Given the description of an element on the screen output the (x, y) to click on. 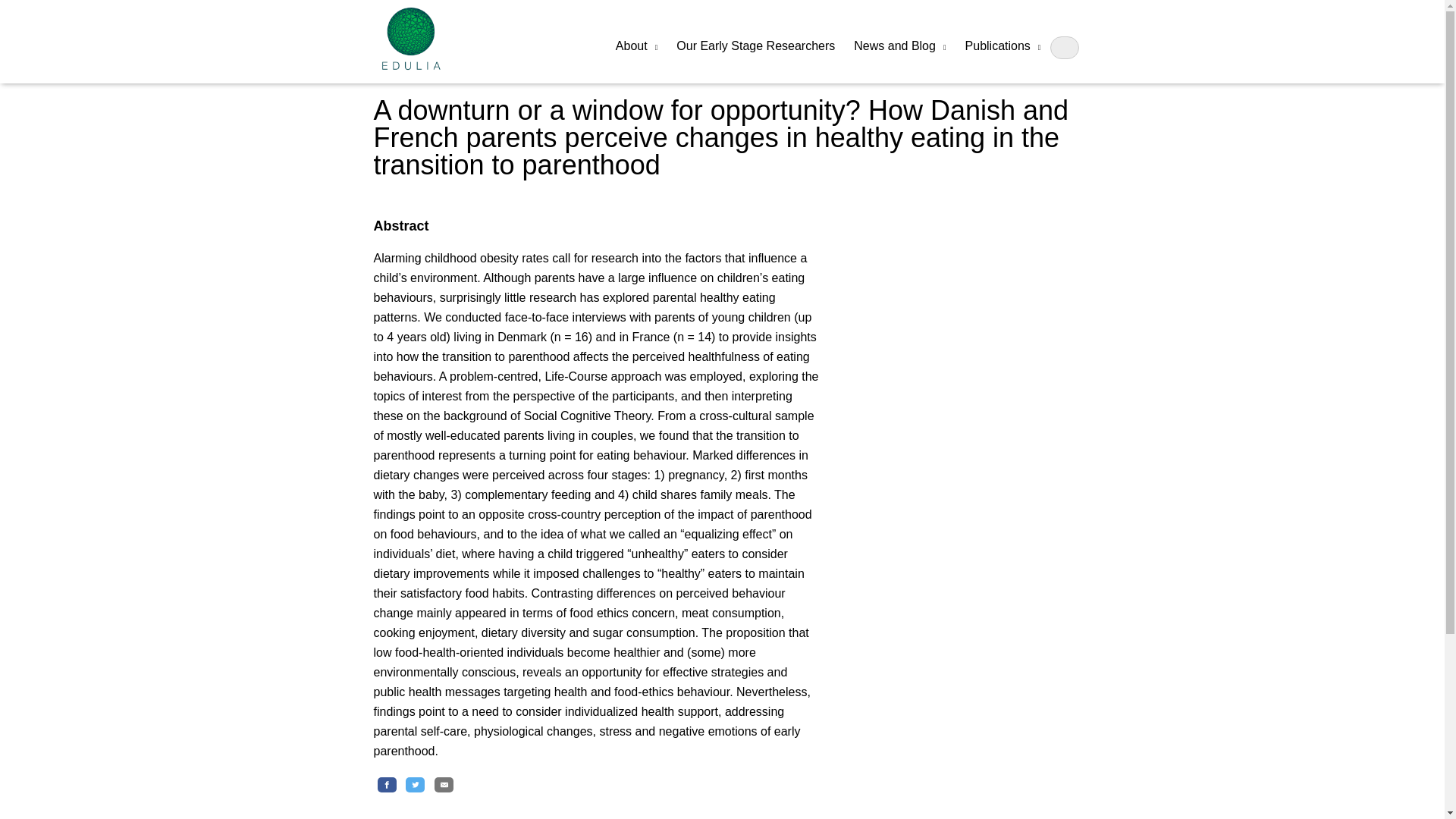
Publications (1002, 46)
About (636, 46)
News and Blog (899, 46)
Our Early Stage Researchers (755, 45)
